Given the description of an element on the screen output the (x, y) to click on. 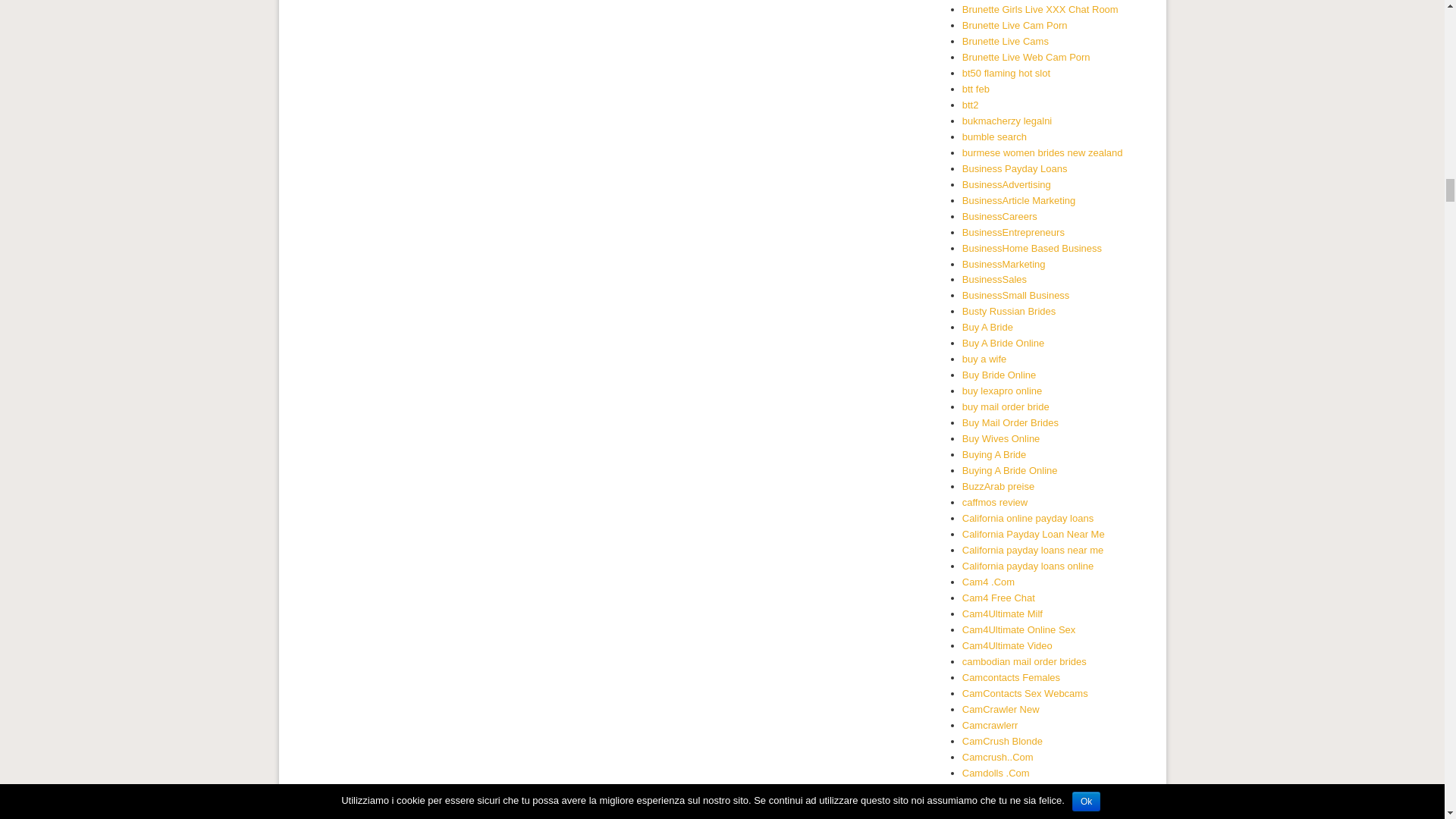
BusinessCareers (999, 215)
BusinessArticle Marketing (1018, 200)
BusinessSales (994, 279)
BusinessSmall Business (1016, 295)
BusinessAdvertising (1006, 184)
BusinessHome Based Business (1032, 247)
BusinessMarketing (1003, 263)
BusinessEntrepreneurs (1013, 232)
